Given the description of an element on the screen output the (x, y) to click on. 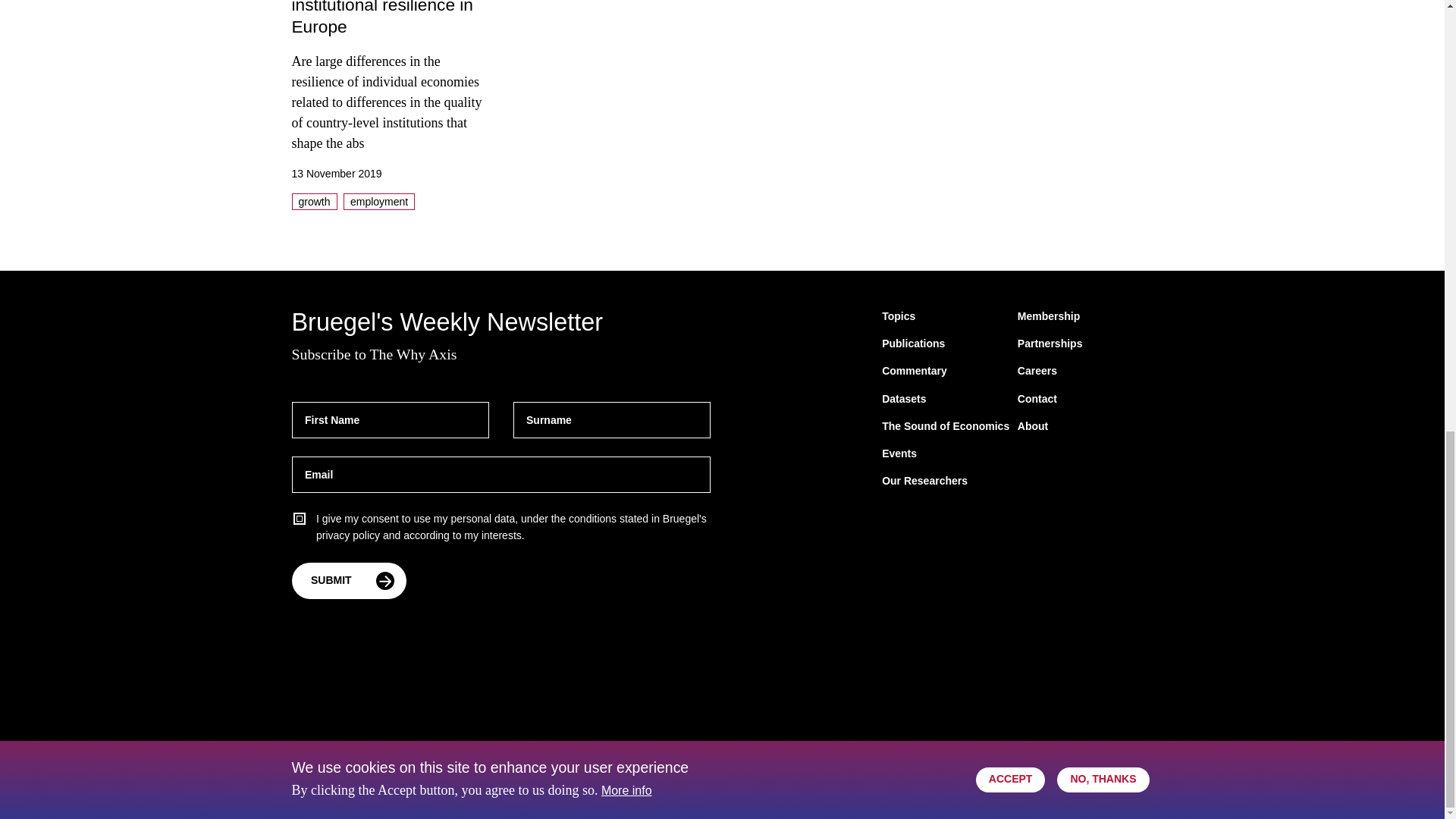
Youtube channel (1079, 782)
Instagram page (1140, 782)
Facebook page (1109, 782)
Linkedin page (1048, 782)
Follow us on Twitter (1018, 782)
Topics (898, 316)
